Given the description of an element on the screen output the (x, y) to click on. 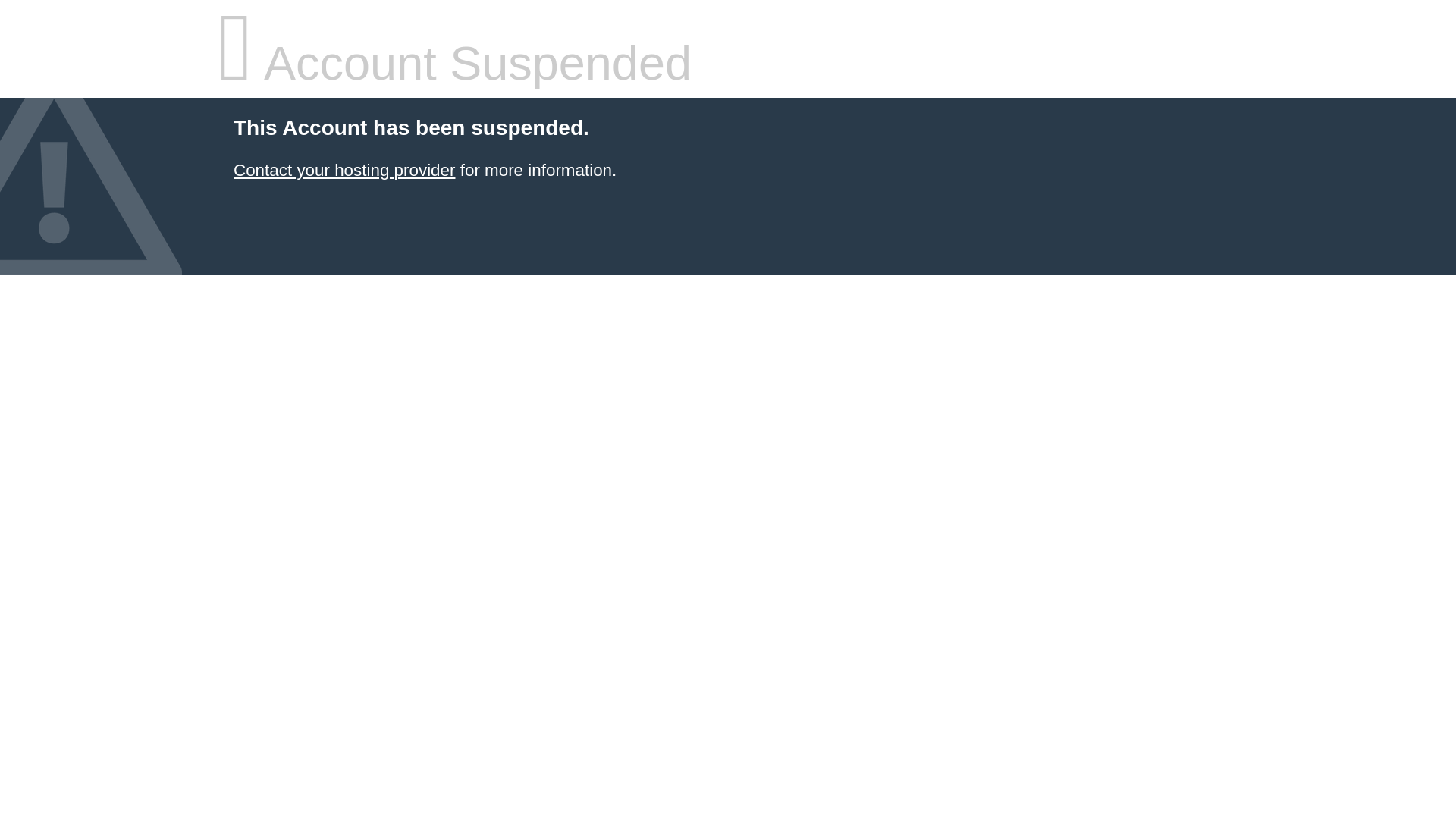
Contact your hosting provider (343, 169)
